Given the description of an element on the screen output the (x, y) to click on. 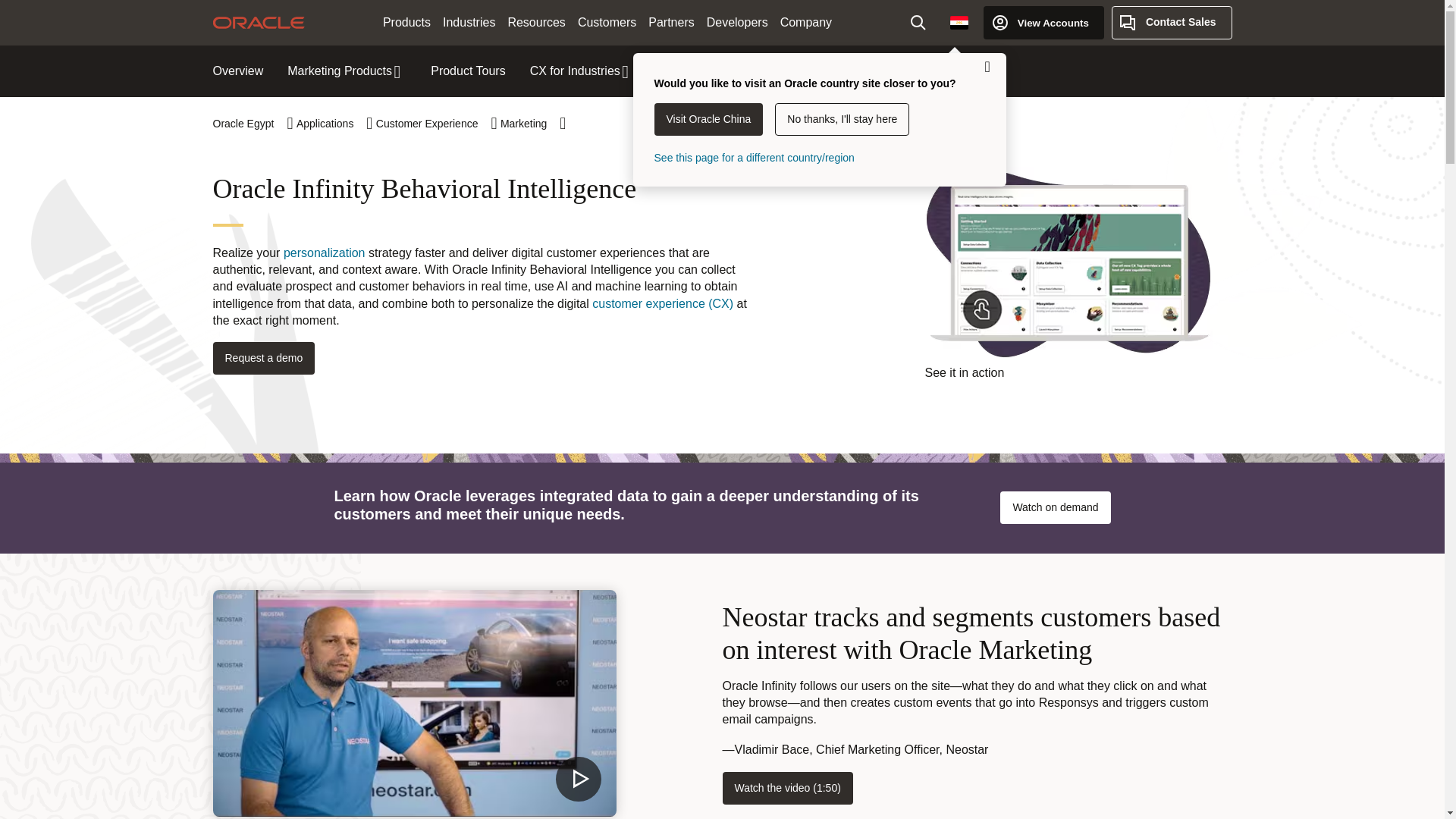
Overview (237, 71)
Visit Oracle China (707, 119)
View Accounts (1043, 22)
Country (958, 22)
Company (806, 22)
Resources (535, 22)
Request Demo Oracle Cloud CX (263, 358)
Product Tours (467, 71)
Partners (671, 22)
Contact Sales (1171, 22)
Contact Sales (1171, 22)
No thanks, I'll stay here (841, 119)
Products (406, 22)
Developers (737, 22)
Customers (607, 22)
